Given the description of an element on the screen output the (x, y) to click on. 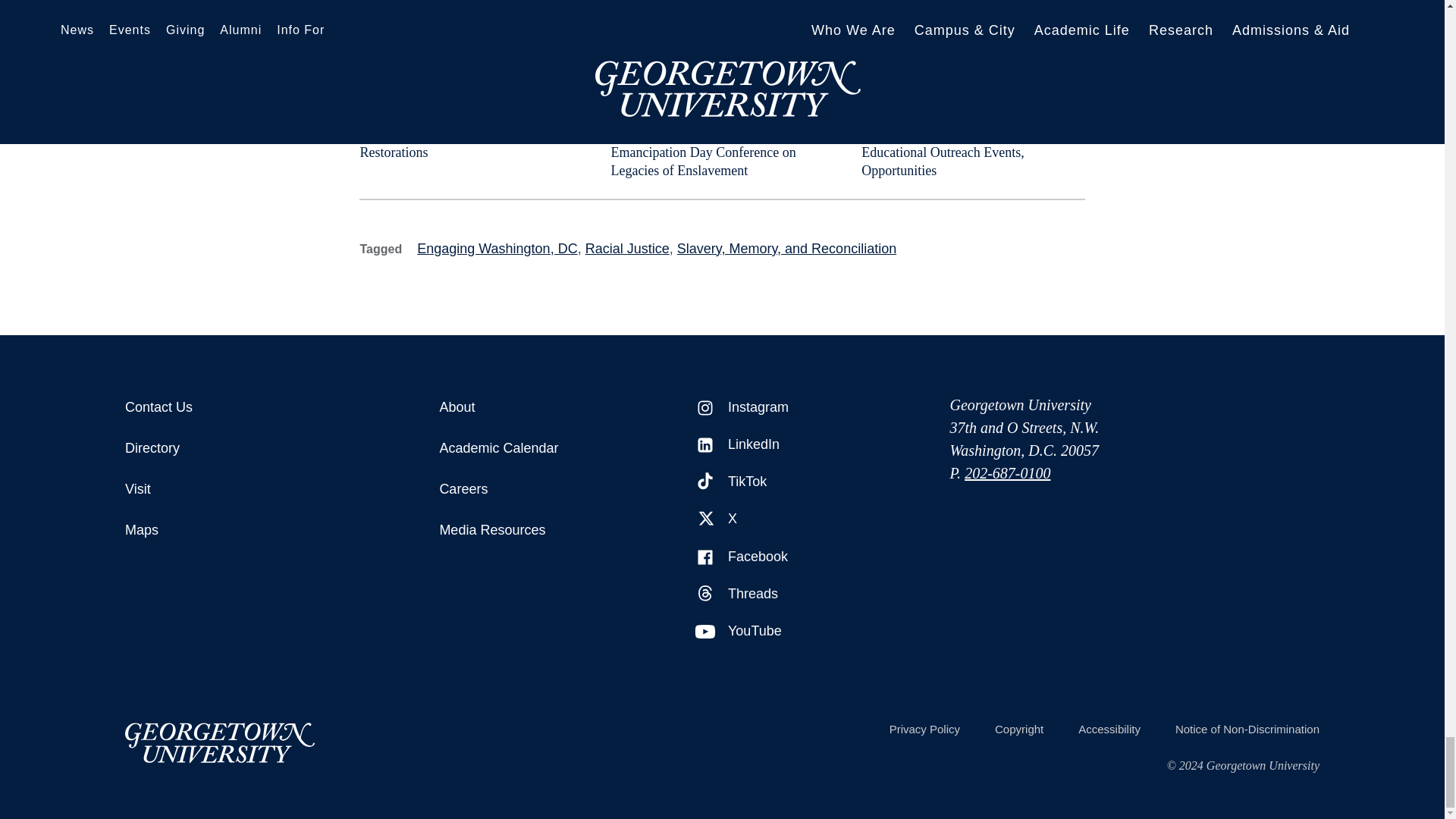
Georgetown University (219, 742)
Threads (705, 594)
TikTok (705, 481)
Facebook (705, 557)
X (705, 519)
LinkedIn (705, 445)
YouTube (705, 630)
Instagram (705, 407)
